Given the description of an element on the screen output the (x, y) to click on. 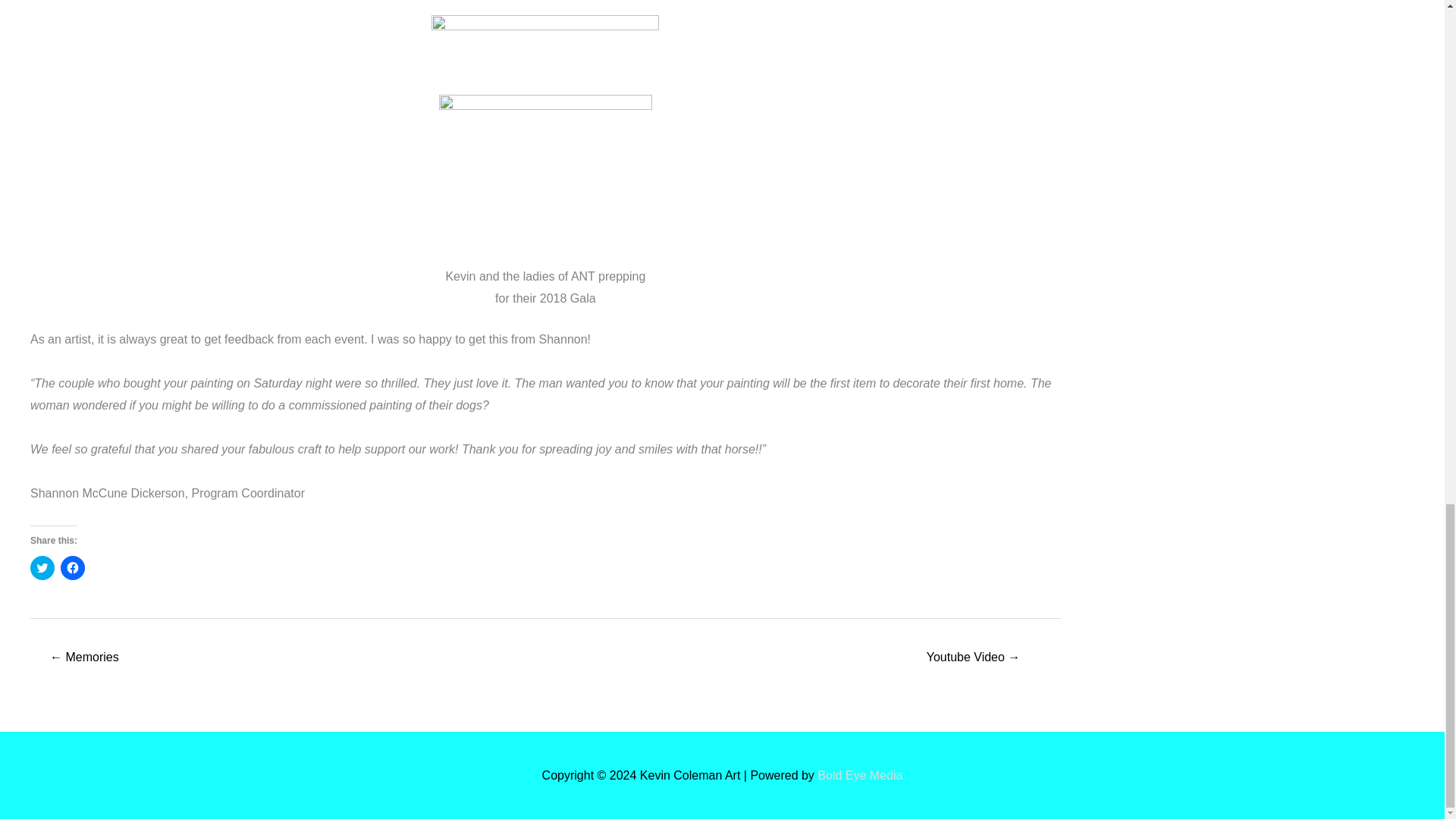
Click to share on Facebook (72, 567)
Click to share on Twitter (42, 567)
Bold Eye Media (859, 775)
